Given the description of an element on the screen output the (x, y) to click on. 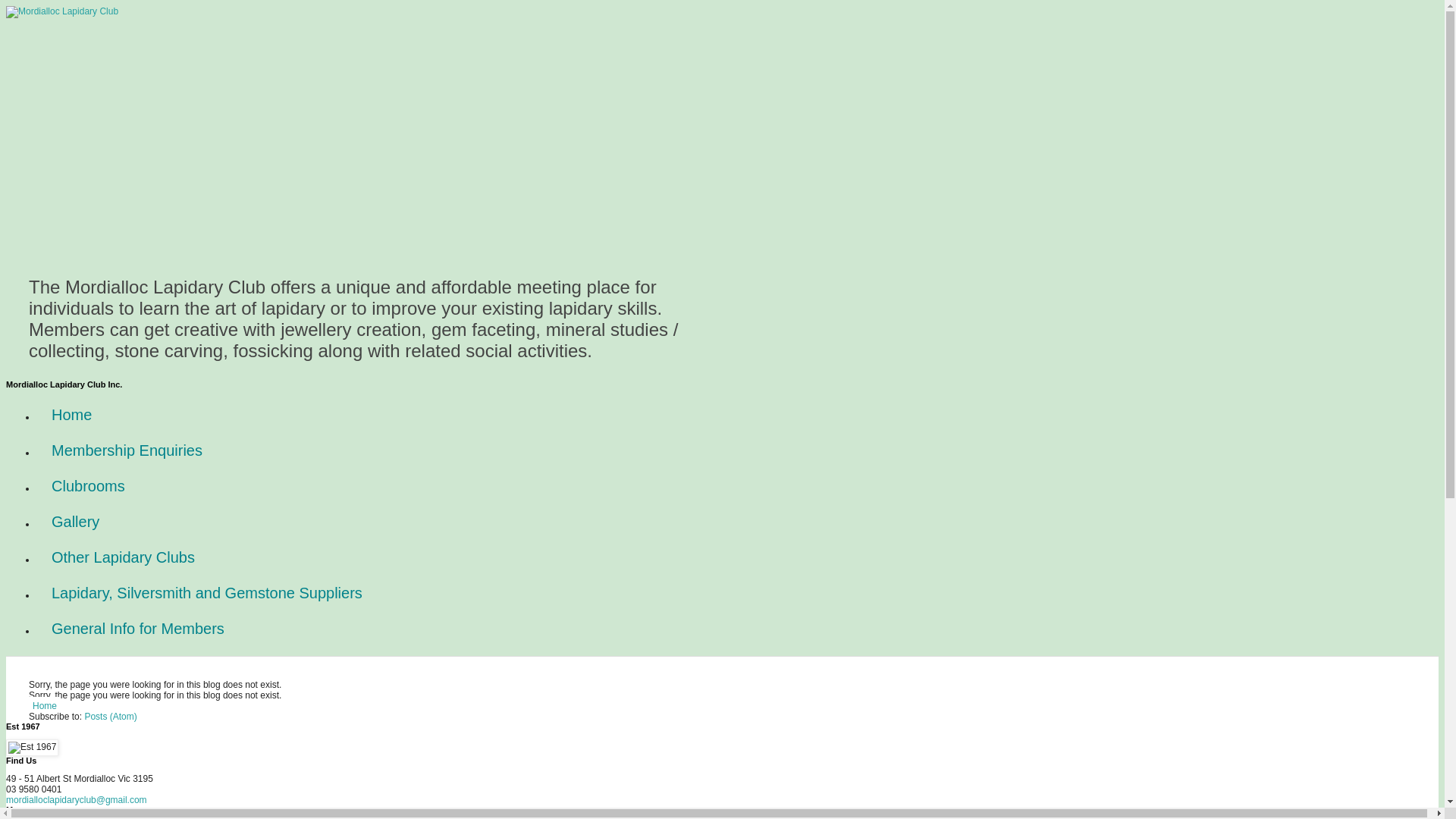
Home Element type: text (44, 705)
General Info for Members Element type: text (137, 628)
Lapidary, Silversmith and Gemstone Suppliers Element type: text (206, 593)
Gallery Element type: text (75, 521)
Posts (Atom) Element type: text (110, 716)
Clubrooms Element type: text (88, 486)
Home Element type: text (71, 415)
Other Lapidary Clubs Element type: text (123, 557)
Membership Enquiries Element type: text (126, 450)
mordialloclapidaryclub@gmail.com Element type: text (76, 799)
